Given the description of an element on the screen output the (x, y) to click on. 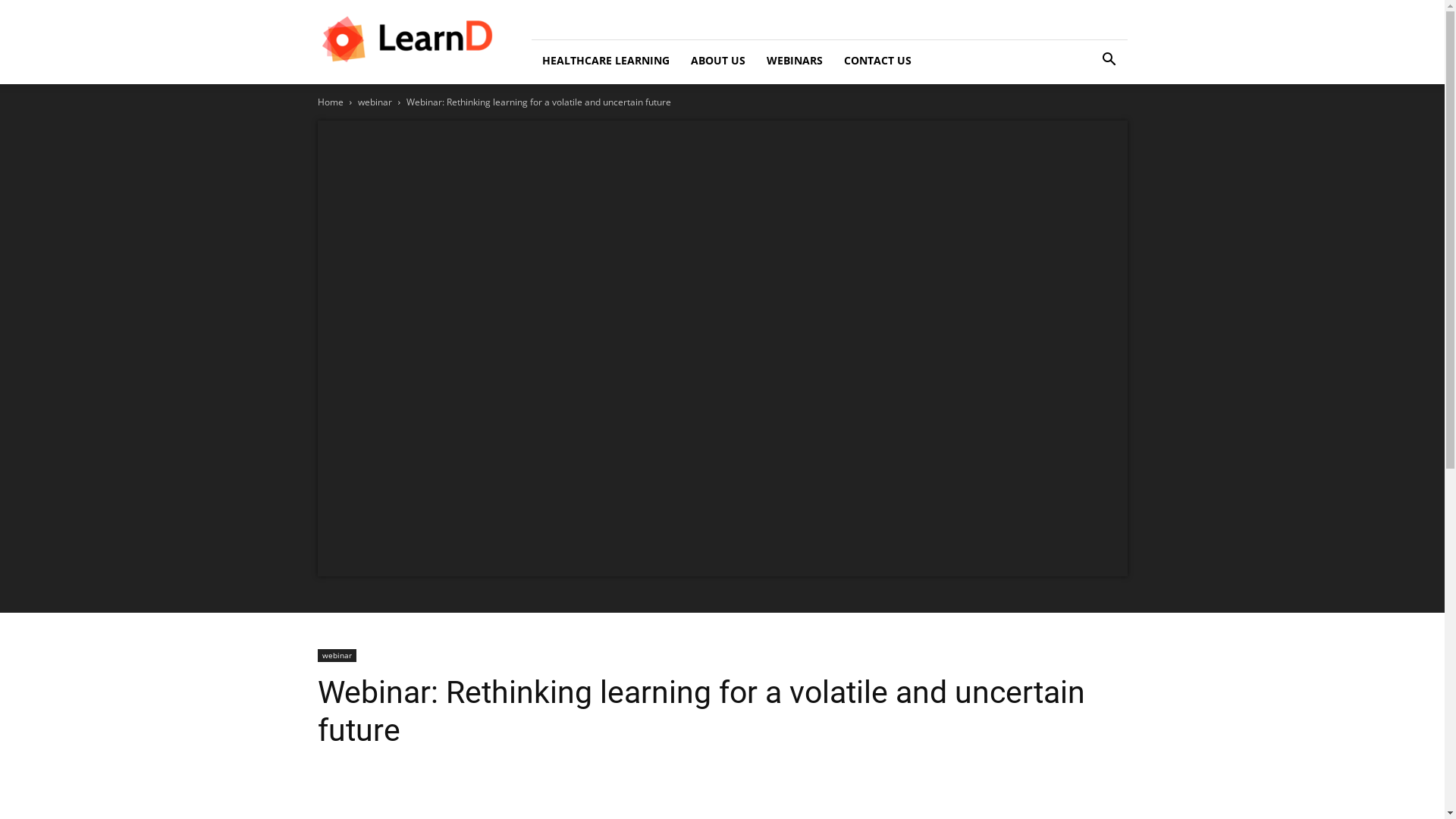
Home Element type: text (329, 101)
HEALTHCARE LEARNING Element type: text (604, 60)
ABOUT US Element type: text (717, 60)
Search Element type: text (1085, 122)
CONTACT US Element type: text (876, 60)
WEBINARS Element type: text (793, 60)
webinar Element type: text (335, 655)
webinar Element type: text (374, 101)
